Given the description of an element on the screen output the (x, y) to click on. 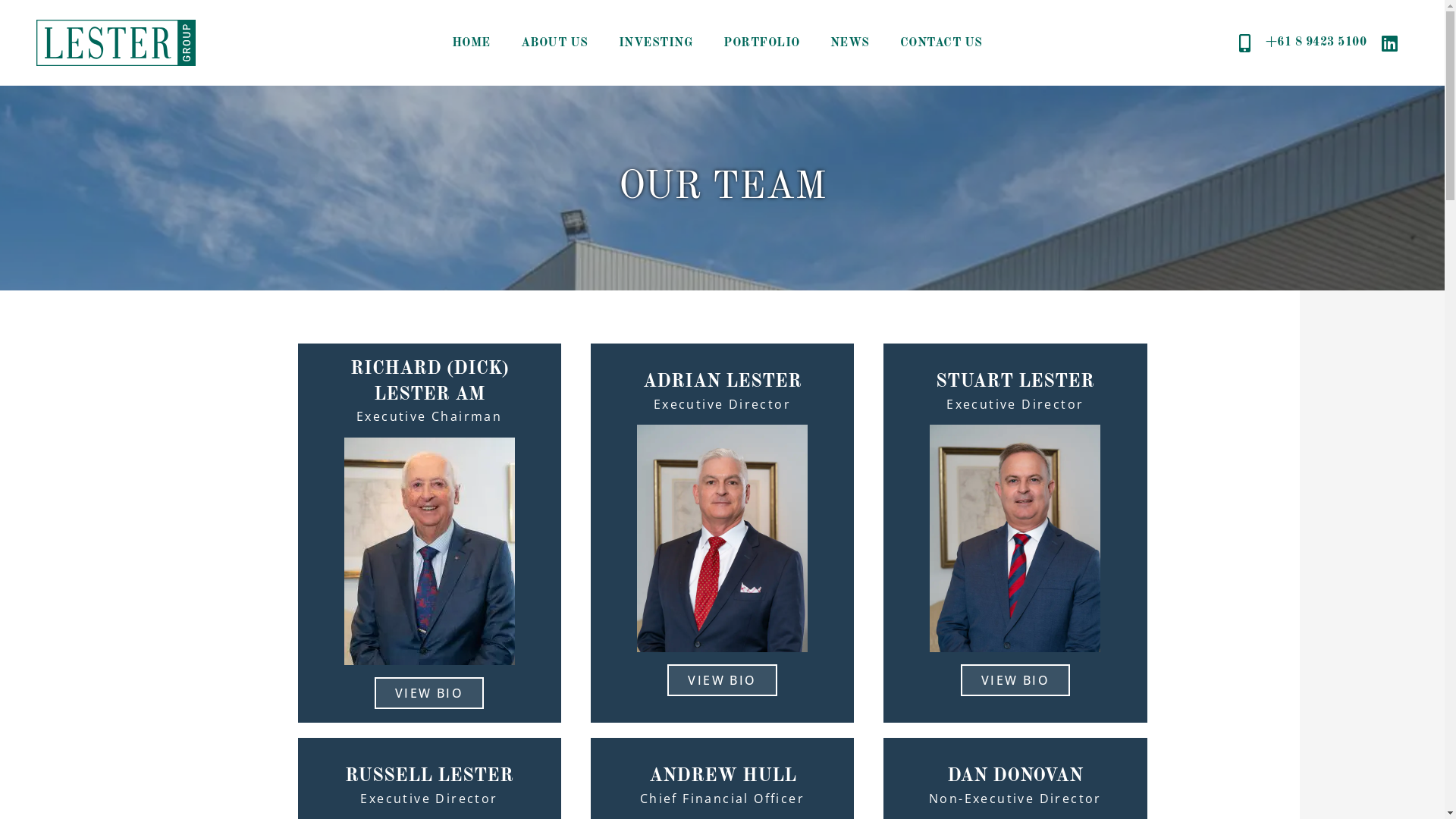
PORTFOLIO Element type: text (761, 42)
VIEW BIO Element type: text (428, 693)
ABOUT US Element type: text (554, 42)
CONTACT US Element type: text (940, 42)
HOME Element type: text (470, 42)
VIEW BIO Element type: text (721, 680)
INVESTING Element type: text (656, 42)
NEWS Element type: text (849, 42)
+61 8 9423 5100 Element type: text (1303, 43)
VIEW BIO Element type: text (1015, 680)
